Given the description of an element on the screen output the (x, y) to click on. 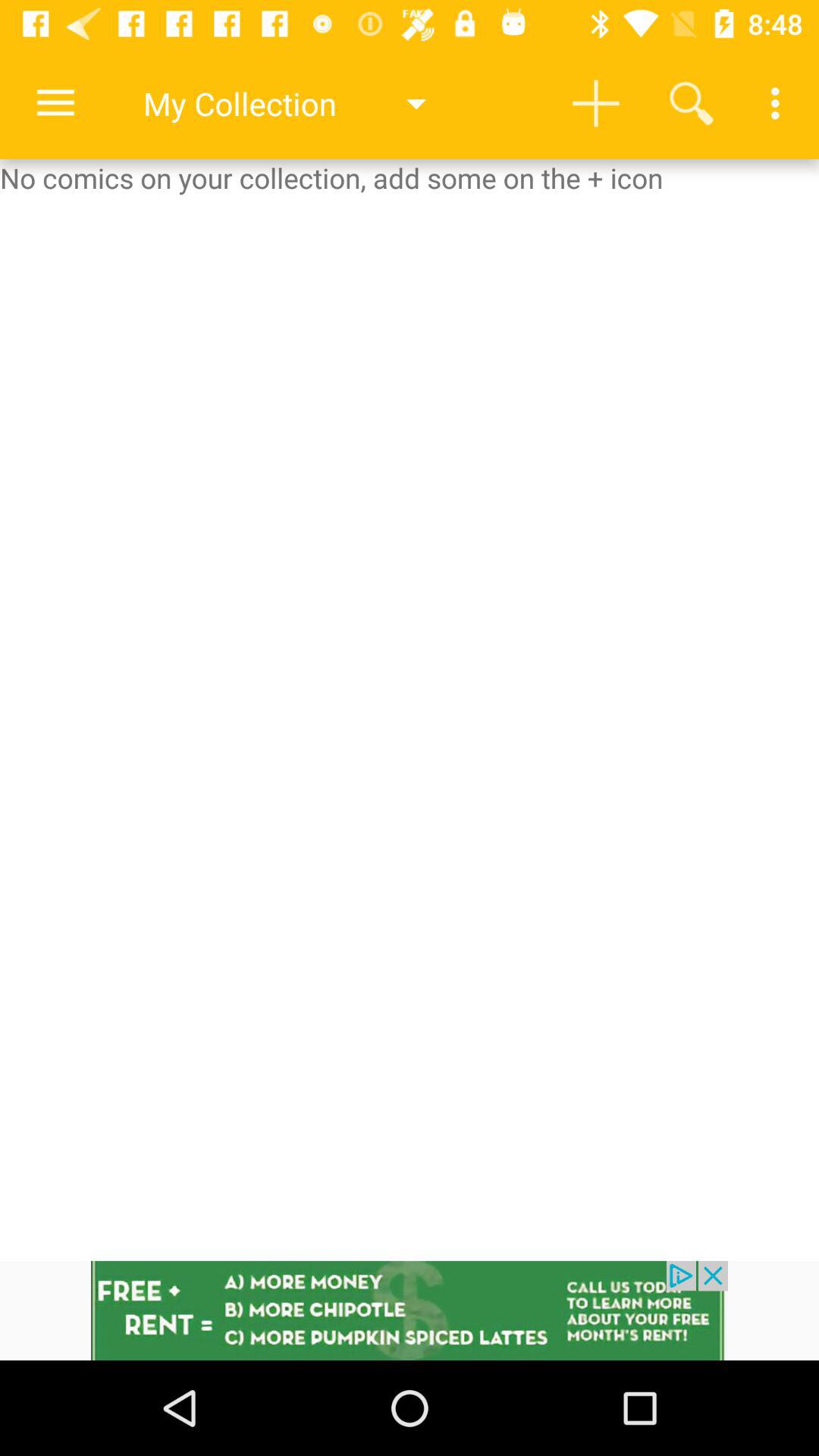
advertisement banner (409, 1310)
